Given the description of an element on the screen output the (x, y) to click on. 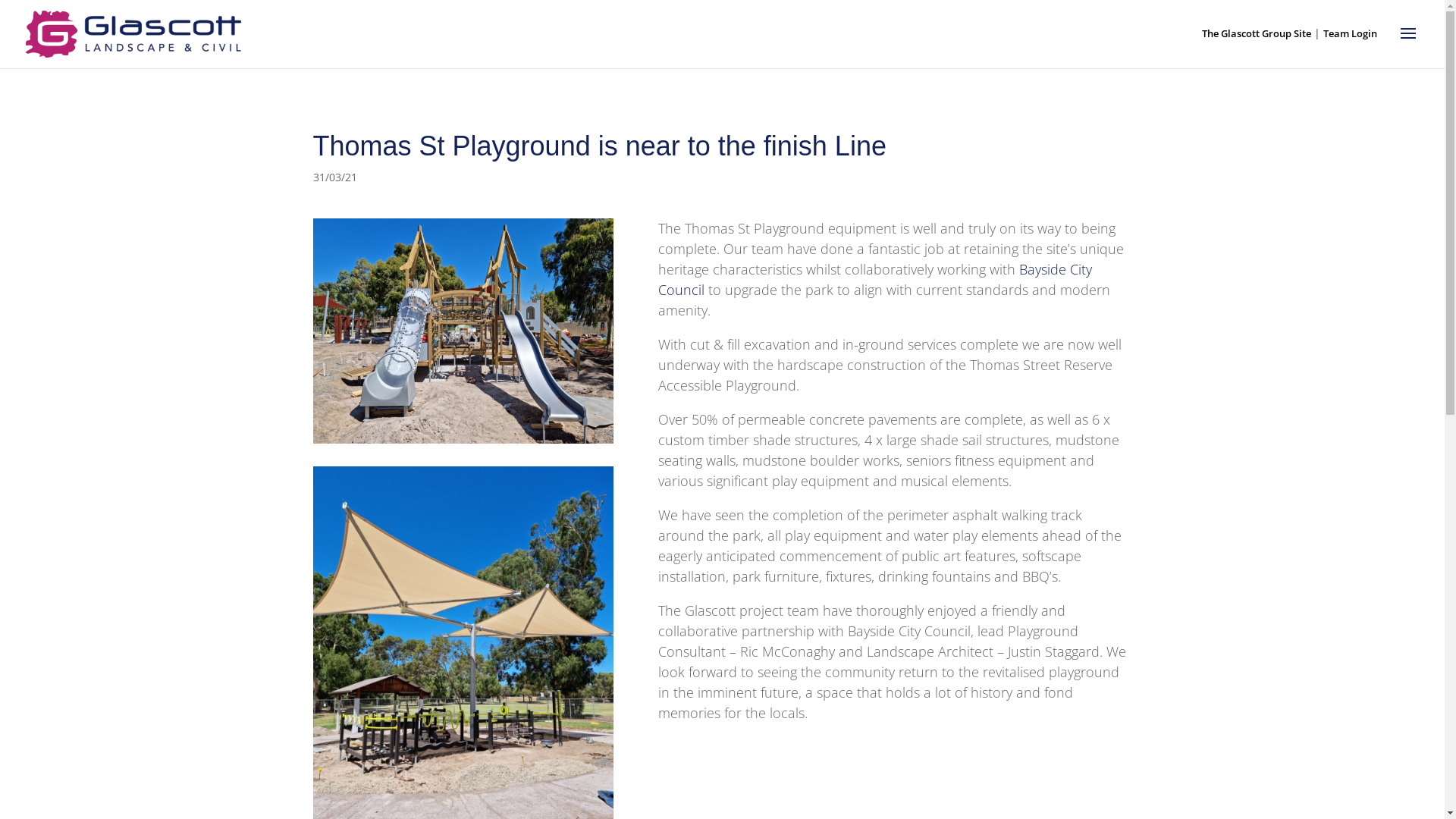
The Glascott Group Site Element type: text (1256, 33)
Bayside City Council Element type: text (875, 279)
Team Login Element type: text (1350, 33)
20210219_123005 thomas st Element type: hover (462, 330)
